Given the description of an element on the screen output the (x, y) to click on. 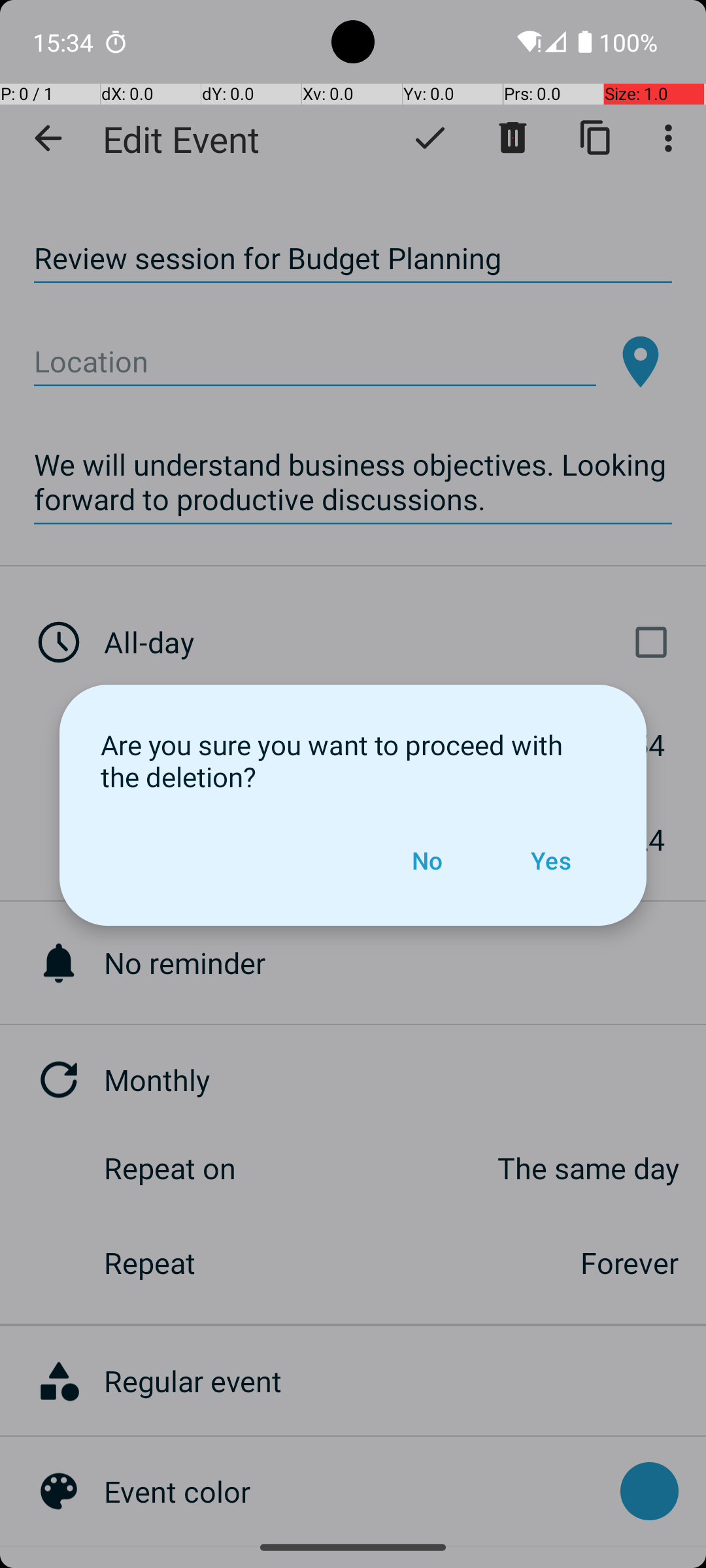
Are you sure you want to proceed with the deletion? Element type: android.widget.TextView (352, 760)
No Element type: android.widget.Button (426, 860)
Yes Element type: android.widget.Button (550, 860)
